Given the description of an element on the screen output the (x, y) to click on. 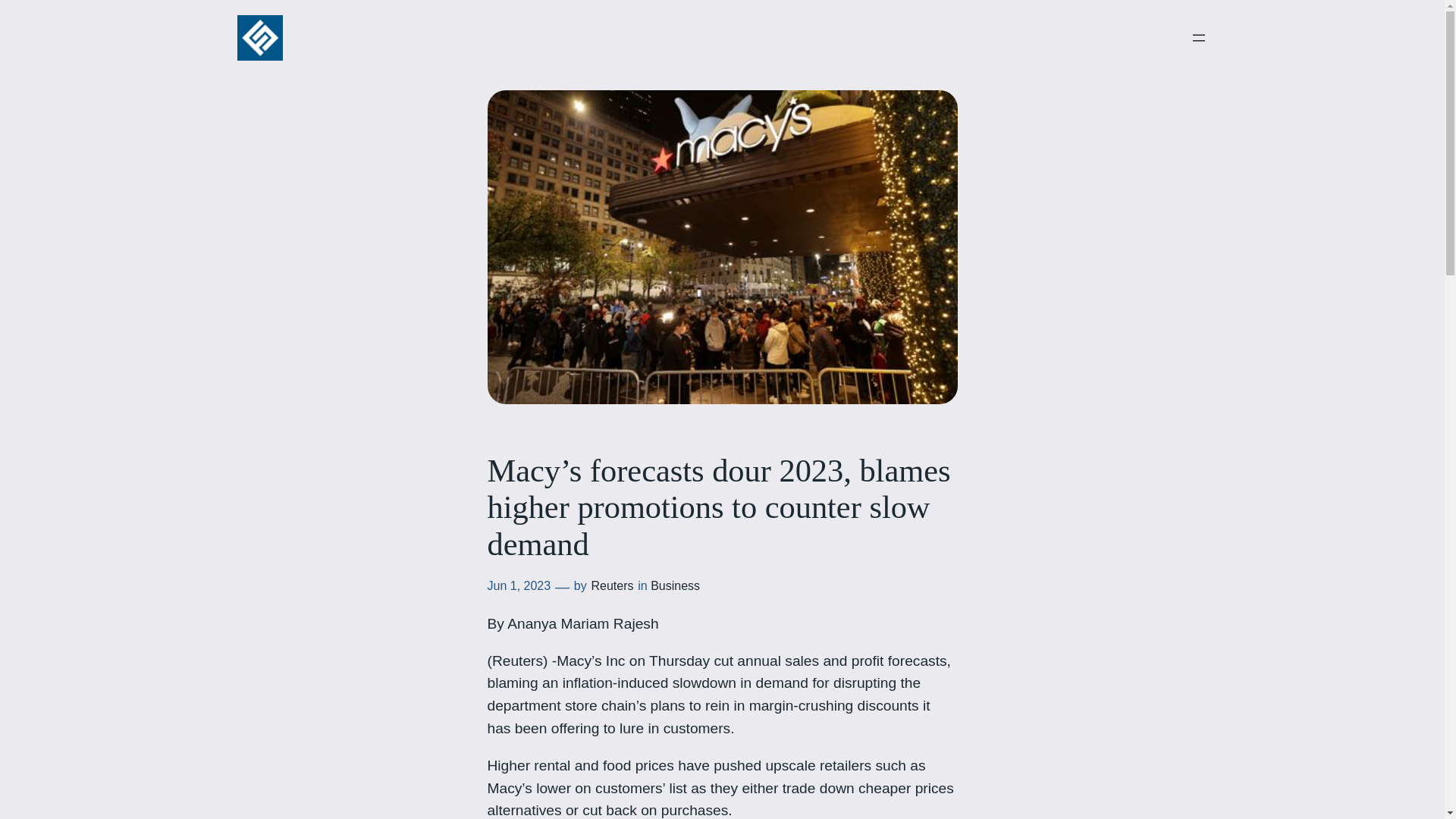
Reuters (612, 585)
Jun 1, 2023 (518, 585)
Business (675, 585)
